Given the description of an element on the screen output the (x, y) to click on. 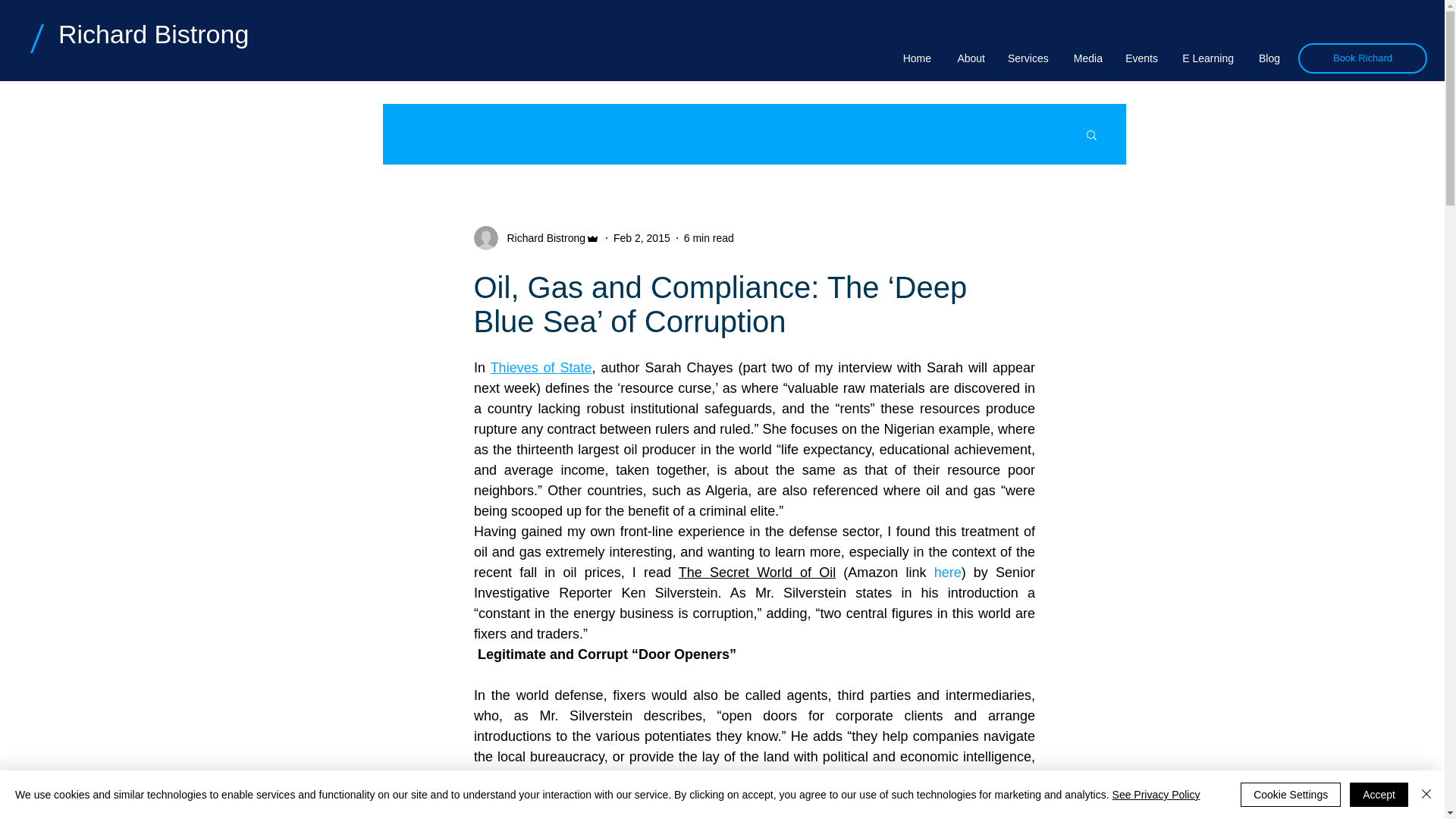
Cookie Settings (1290, 794)
See Privacy Policy (1155, 794)
here (946, 572)
E Learning (1206, 57)
Media (1086, 57)
Services (1027, 57)
Richard Bistrong (541, 238)
Feb 2, 2015 (640, 237)
Events (1141, 57)
Book Richard (1362, 58)
